Given the description of an element on the screen output the (x, y) to click on. 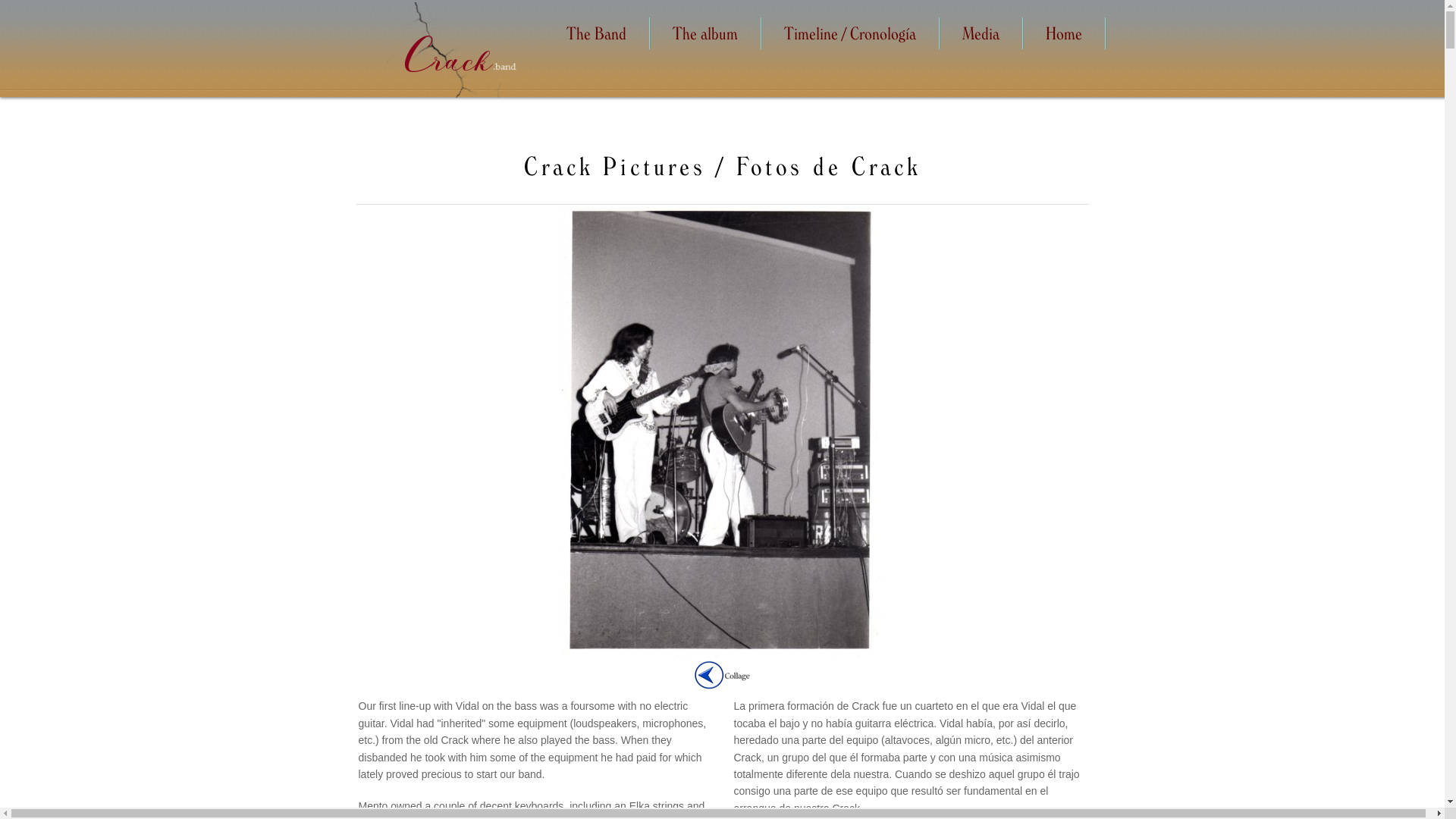
Home Element type: text (1063, 33)
Media Element type: text (979, 33)
The Band Element type: text (595, 33)
The album Element type: text (704, 33)
